Given the description of an element on the screen output the (x, y) to click on. 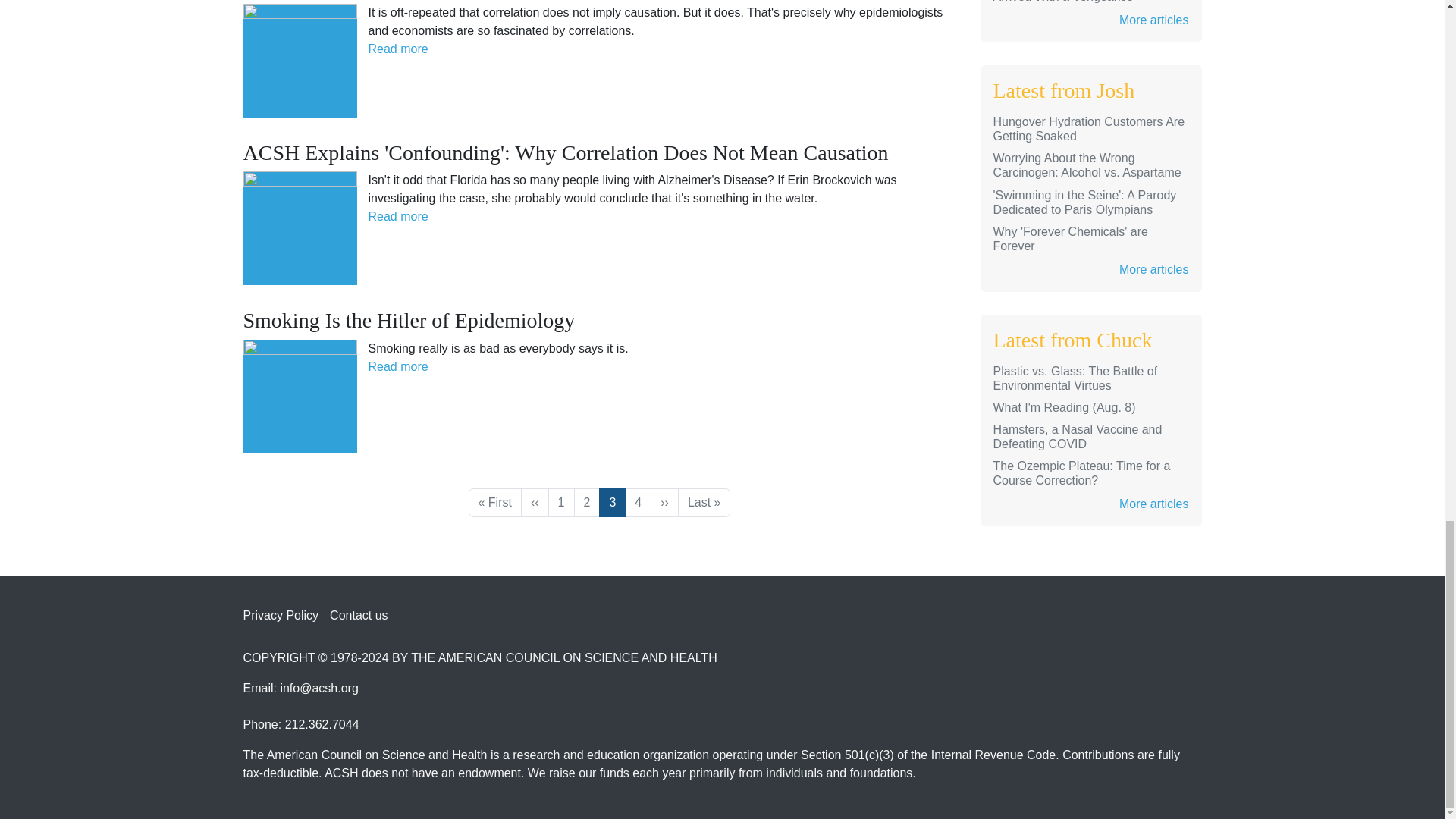
Go to page 4 (637, 502)
Go to page 1 (561, 502)
Go to first page (494, 502)
Go to last page (704, 502)
Go to next page (664, 502)
Current page (612, 502)
Go to previous page (534, 502)
Go to page 2 (586, 502)
